Given the description of an element on the screen output the (x, y) to click on. 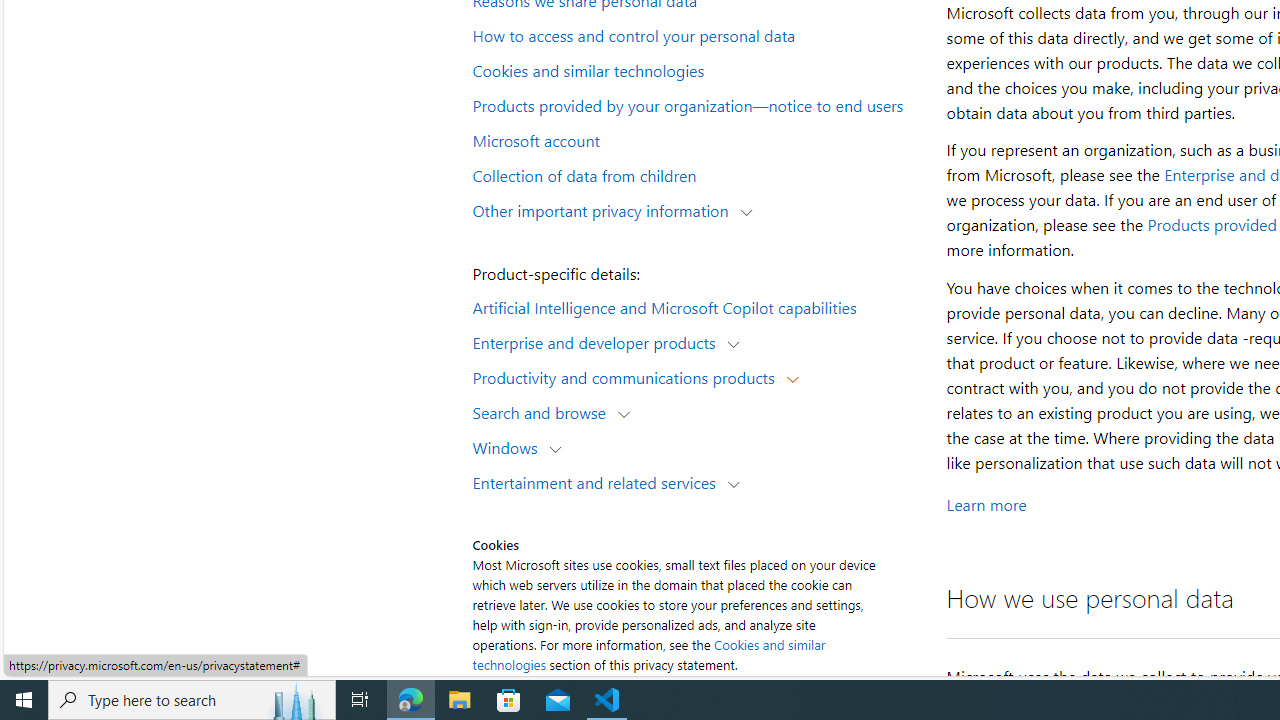
Productivity and communications products (628, 376)
Microsoft account (696, 139)
Other important privacy information (605, 209)
How to access and control your personal data (696, 35)
Entertainment and related services (598, 481)
Windows (509, 446)
Cookies and similar technologies (648, 654)
Cookies and similar technologies (696, 69)
Enterprise and developer products (598, 341)
Collection of data from children (696, 174)
Artificial Intelligence and Microsoft Copilot capabilities (696, 306)
Learn more about Personal data we collect (985, 504)
Search and browse (543, 412)
